Given the description of an element on the screen output the (x, y) to click on. 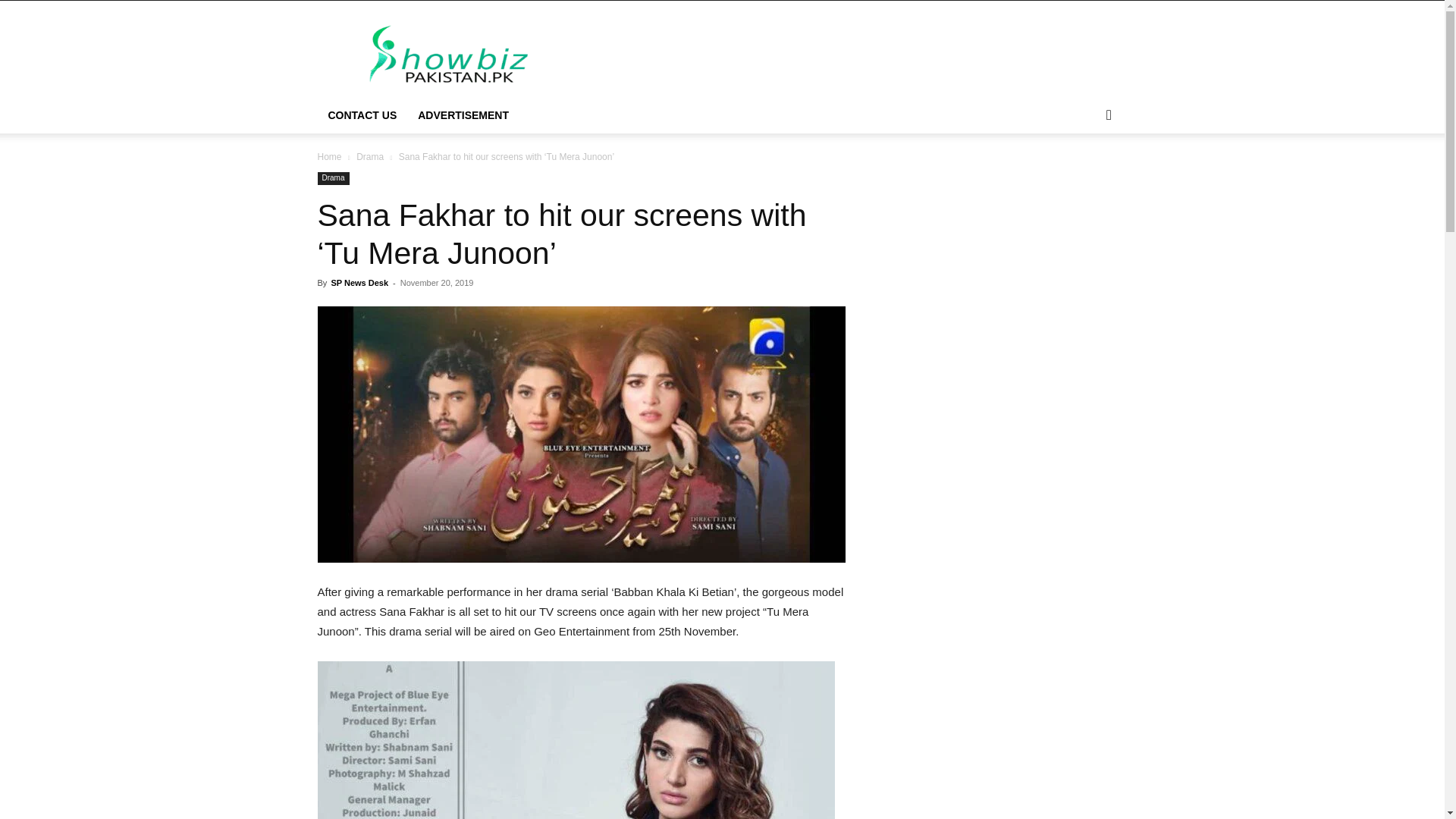
Sana Fakhar to hit our screens with 'Tu Mera Junoon' (575, 739)
Drama (370, 156)
Home (328, 156)
View all posts in Drama (370, 156)
ADVERTISEMENT (463, 115)
CONTACT US (362, 115)
Drama (333, 178)
Search (1085, 175)
SP News Desk (359, 282)
